Given the description of an element on the screen output the (x, y) to click on. 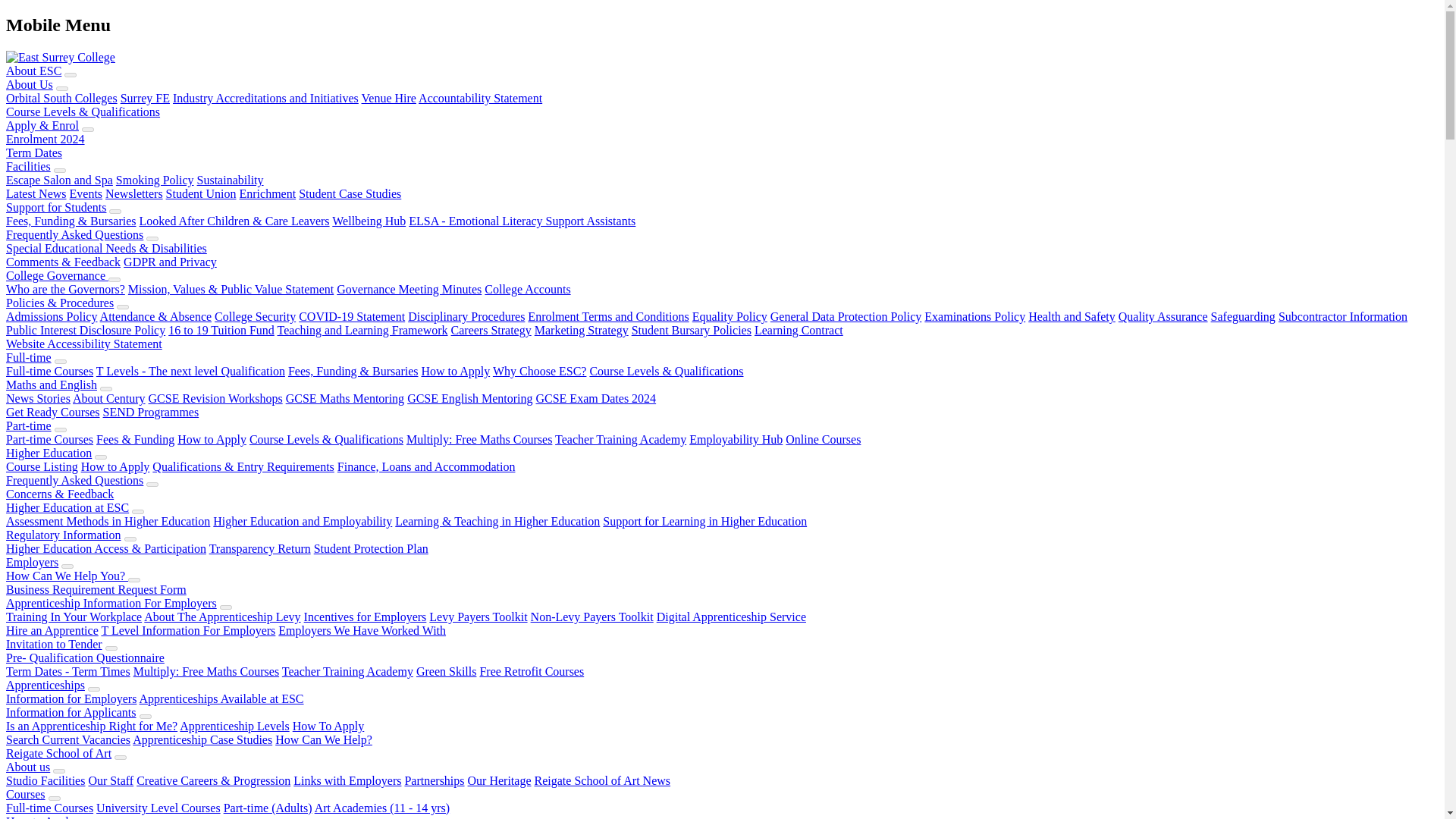
Accountability Statement (480, 97)
Facilities (27, 165)
Latest News (35, 193)
Venue Hire (388, 97)
Student Case Studies (349, 193)
Surrey FE (145, 97)
Wellbeing Hub (368, 220)
Orbital South Colleges (61, 97)
Sustainability (229, 179)
GDPR and Privacy (169, 261)
